Given the description of an element on the screen output the (x, y) to click on. 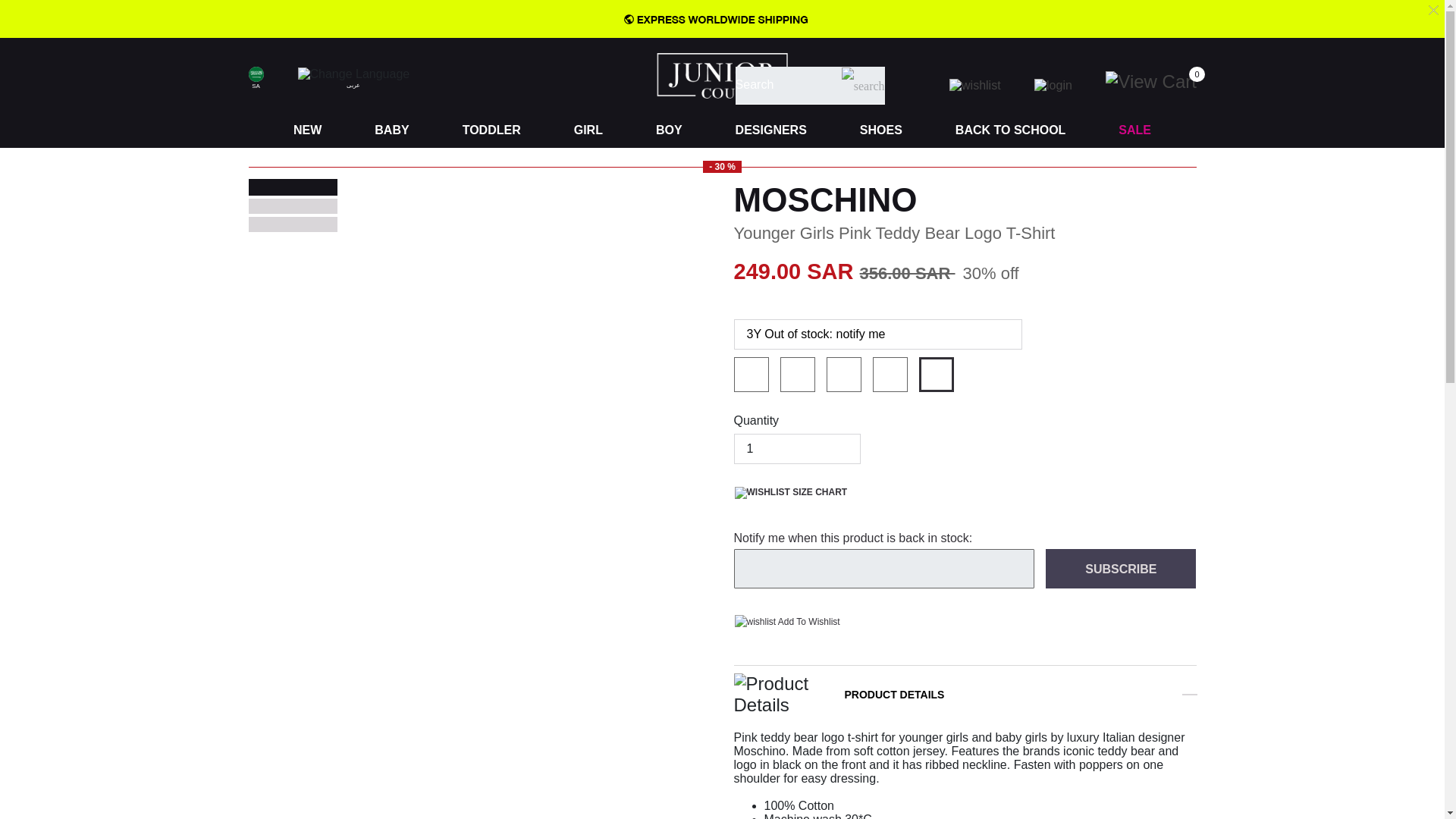
Cart 0 Items (1159, 80)
Juniour Couture Home (721, 74)
0 (1159, 80)
